Given the description of an element on the screen output the (x, y) to click on. 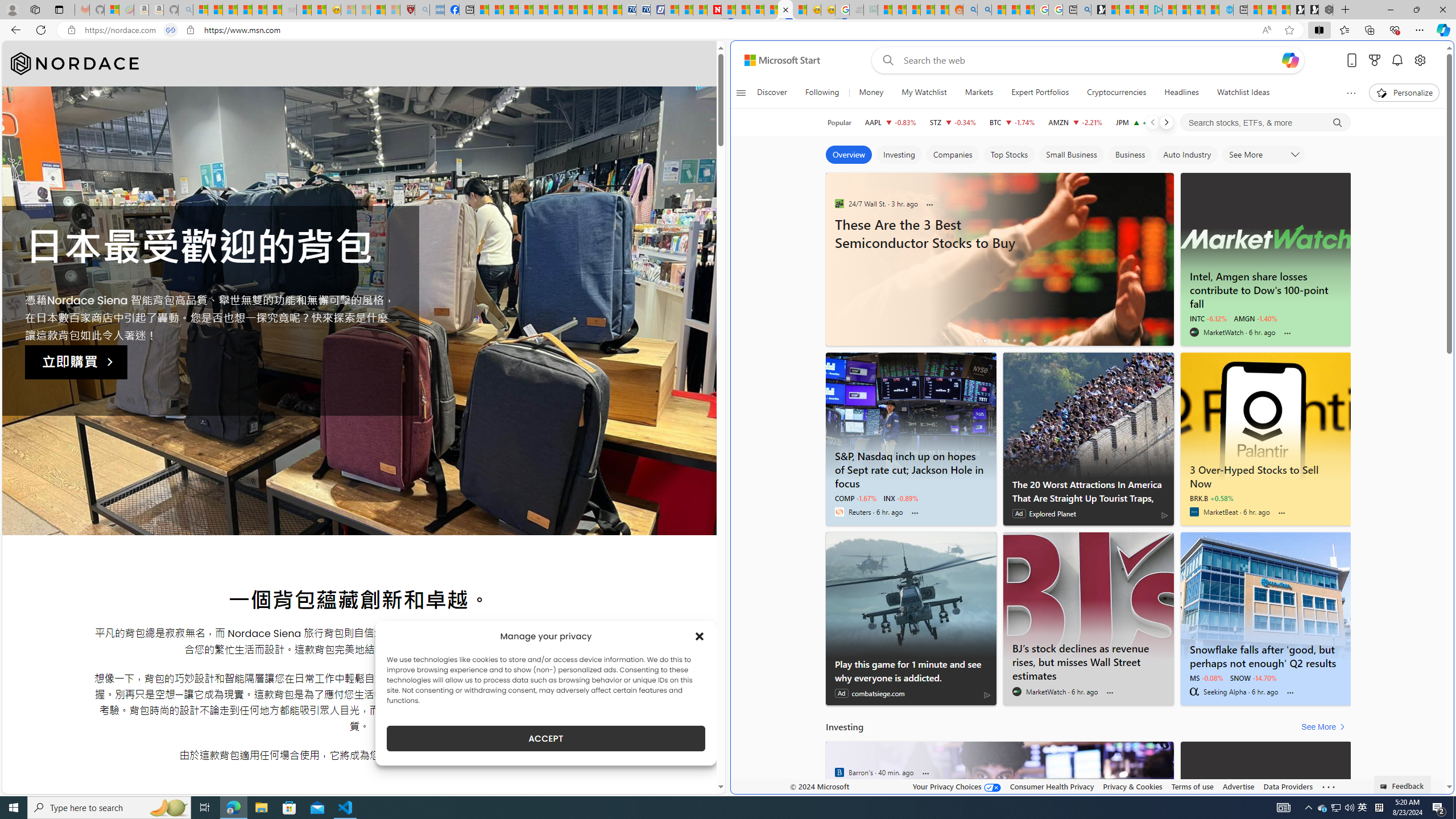
Student Loan Update: Forgiveness Program Ends This Month (927, 9)
3 Over-Hyped Stocks to Sell Now - MarketBeat (1265, 416)
Headlines (1181, 92)
